Given the description of an element on the screen output the (x, y) to click on. 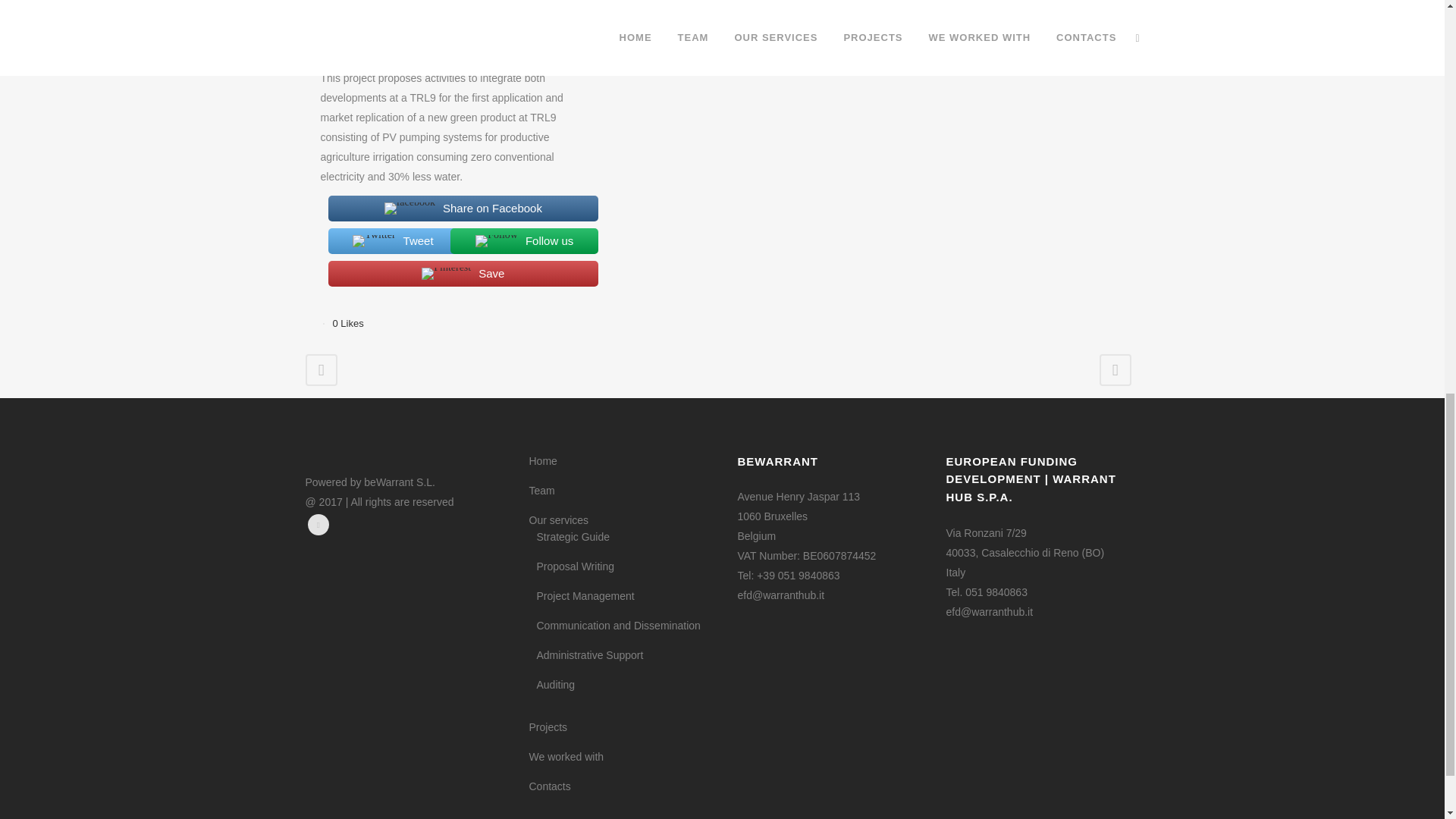
Like this (346, 323)
Follow us (516, 240)
Our services (621, 519)
Home (621, 460)
Team (621, 490)
0 Likes (346, 323)
Tweet (384, 240)
Share on Facebook (455, 208)
Save (455, 273)
